Given the description of an element on the screen output the (x, y) to click on. 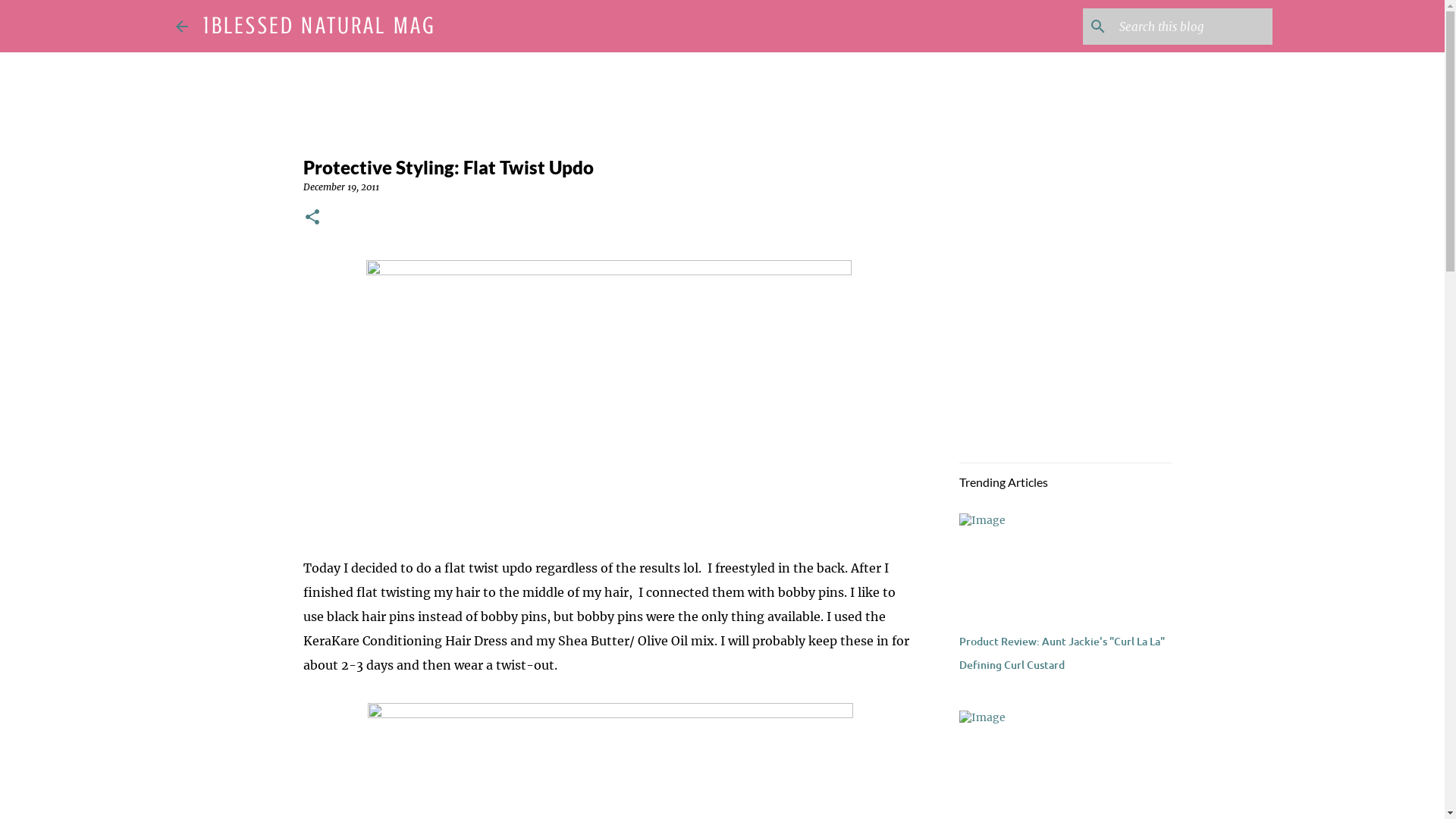
December 19, 2011 Element type: text (341, 186)
  Element type: text (610, 394)
1BLESSED NATURAL MAG Element type: text (319, 25)
